Given the description of an element on the screen output the (x, y) to click on. 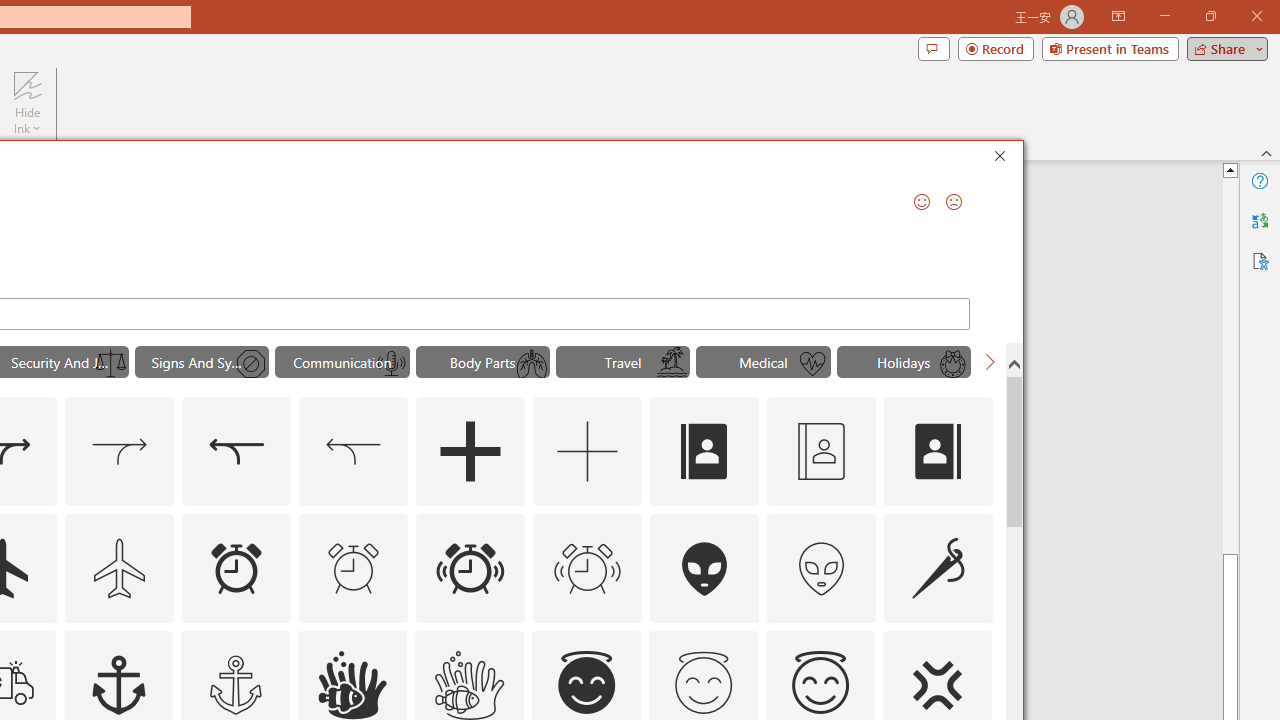
Send a Smile (922, 201)
AutomationID: Icons_Lungs_M (532, 364)
AutomationID: Icons_Acquisition_RTL (236, 452)
AutomationID: Icons_AlienFace_M (821, 568)
AutomationID: Icons_WreathHoliday_M (952, 364)
